Given the description of an element on the screen output the (x, y) to click on. 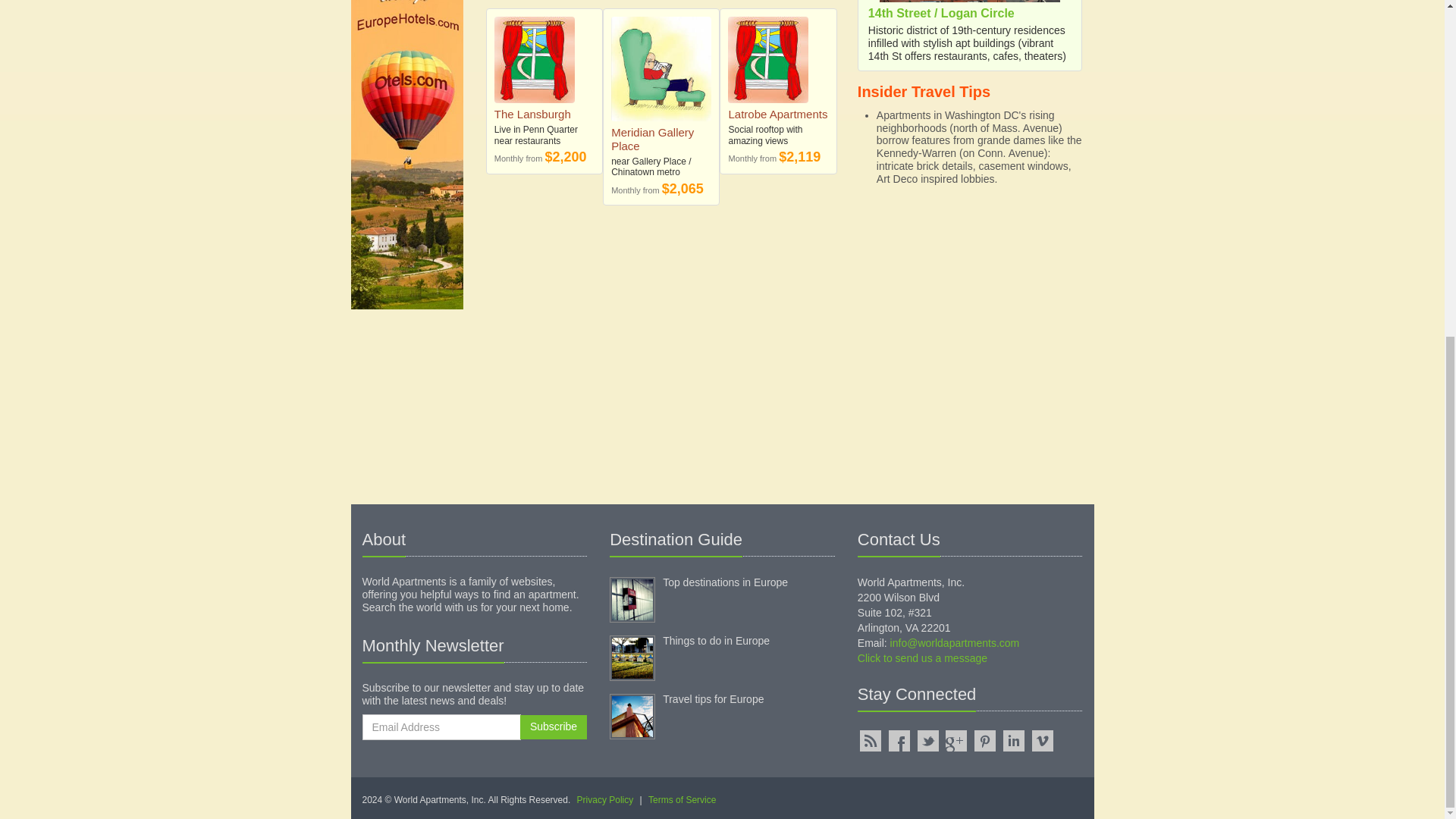
Terms of Service (681, 799)
The Lansburgh (532, 113)
Meridian Gallery Place (661, 68)
Privacy Policy (604, 799)
The Lansburgh (532, 113)
Meridian Gallery Place (652, 139)
Subscribe (552, 726)
The Lansburgh (544, 59)
Meridian Gallery Place (652, 139)
